Given the description of an element on the screen output the (x, y) to click on. 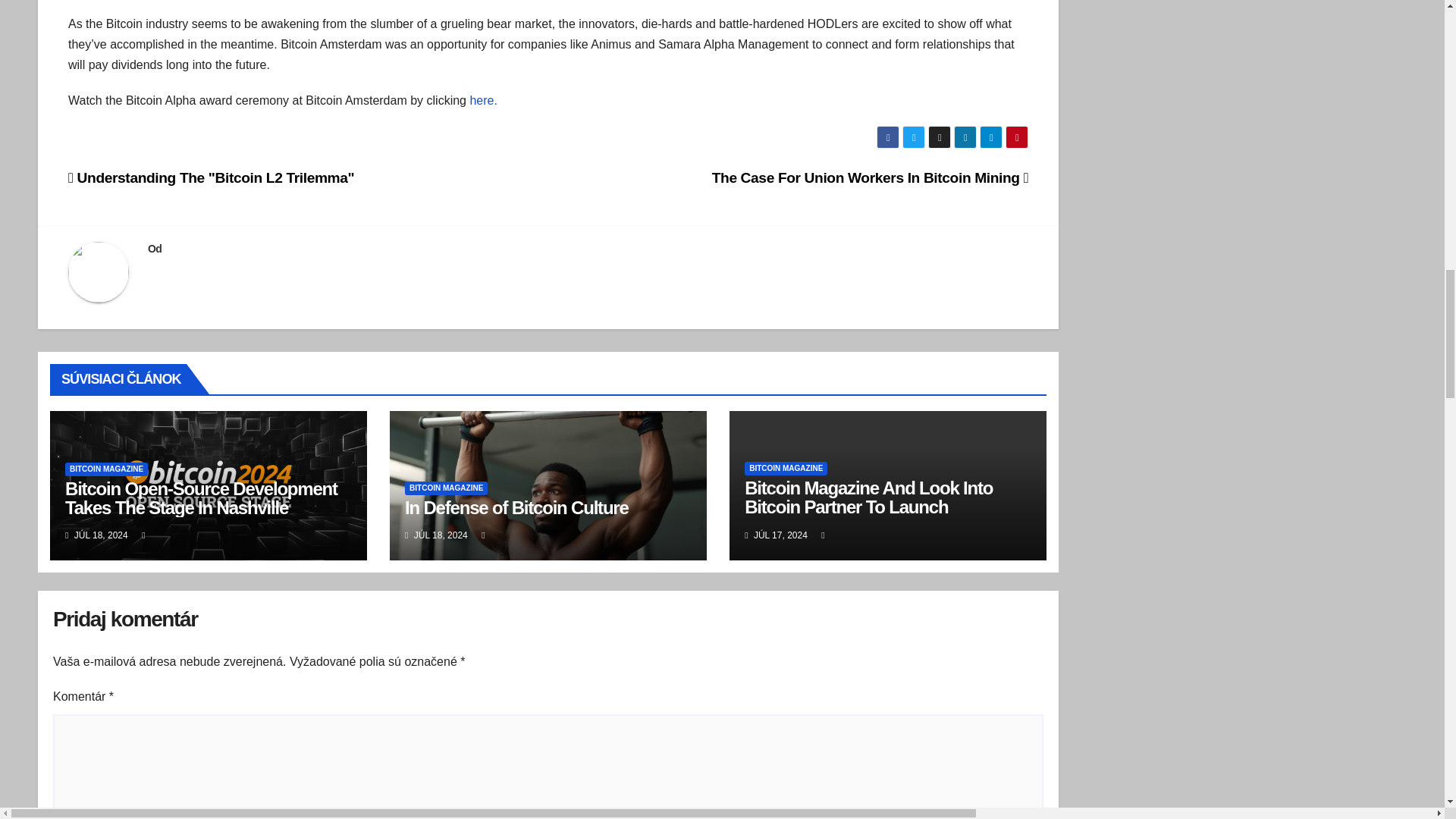
Permalink to: In Defense of Bitcoin Culture (516, 507)
Understanding The "Bitcoin L2 Trilemma" (210, 177)
The Case For Union Workers In Bitcoin Mining (870, 177)
In Defense of Bitcoin Culture (516, 507)
here. (482, 100)
BITCOIN MAGAZINE (785, 468)
BITCOIN MAGAZINE (106, 468)
BITCOIN MAGAZINE (445, 488)
Bitcoin Open-Source Development Takes The Stage In Nashville (201, 497)
